Given the description of an element on the screen output the (x, y) to click on. 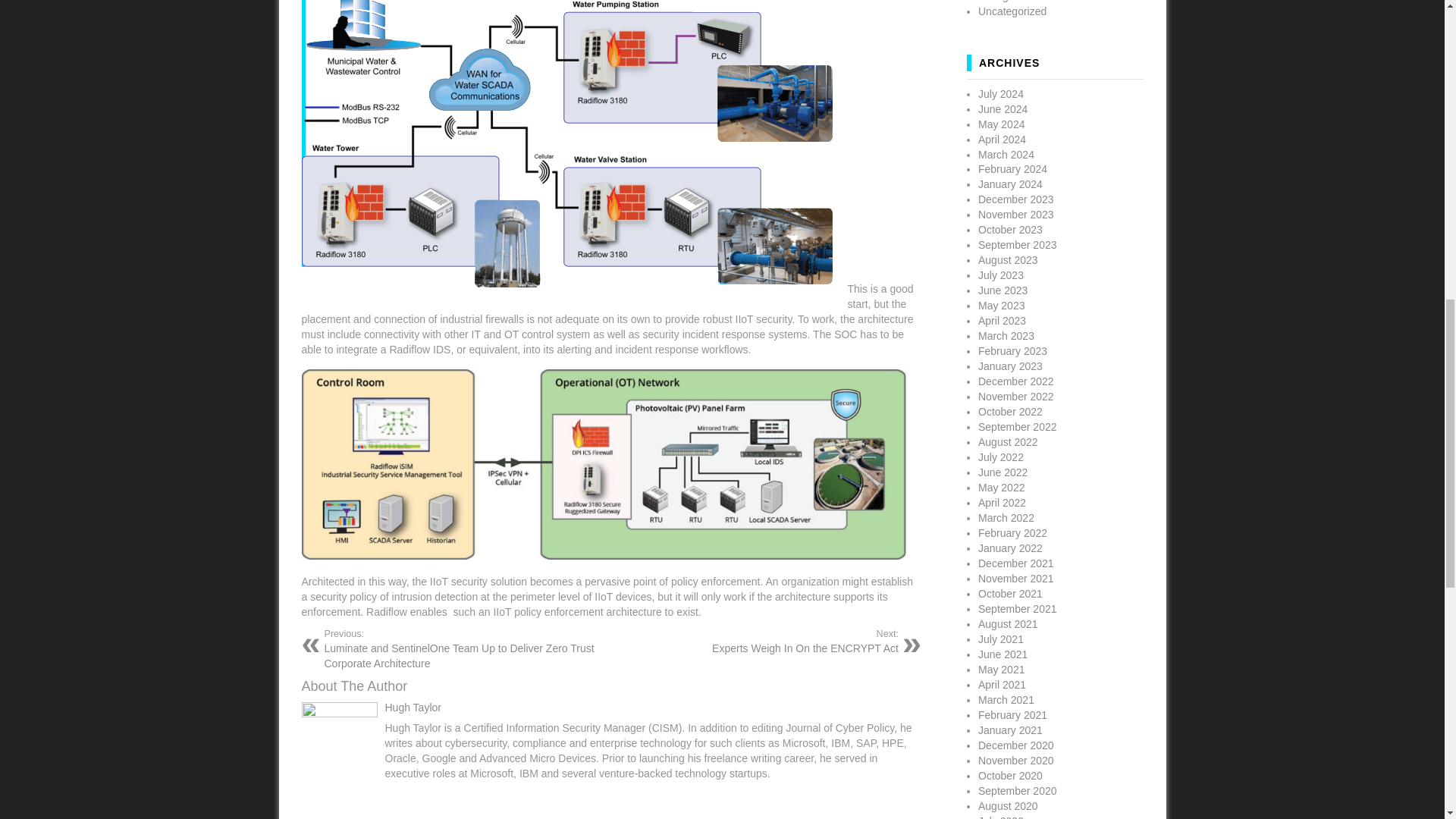
Hugh Taylor (413, 707)
